Given the description of an element on the screen output the (x, y) to click on. 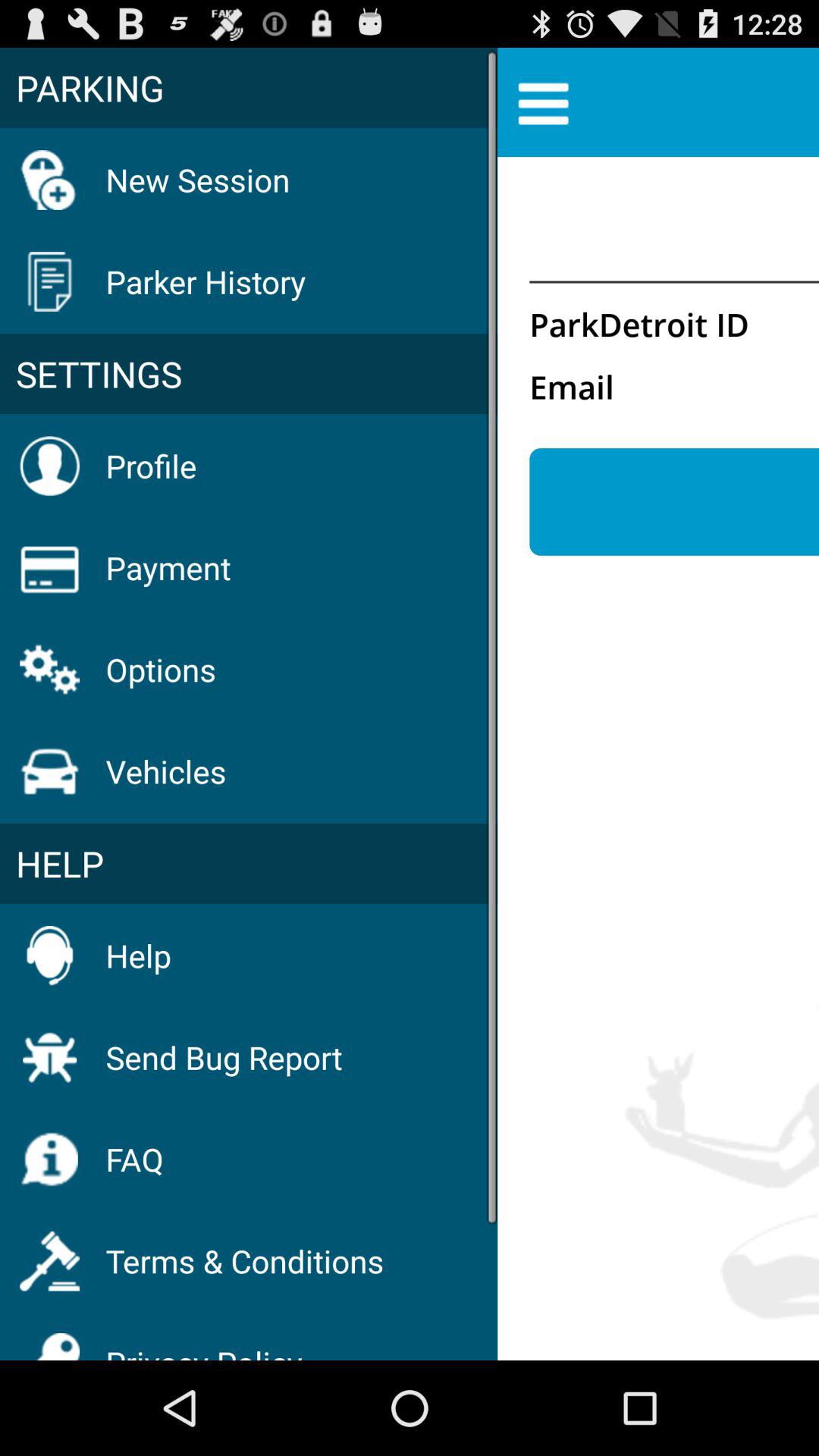
select the payment item (167, 567)
